Given the description of an element on the screen output the (x, y) to click on. 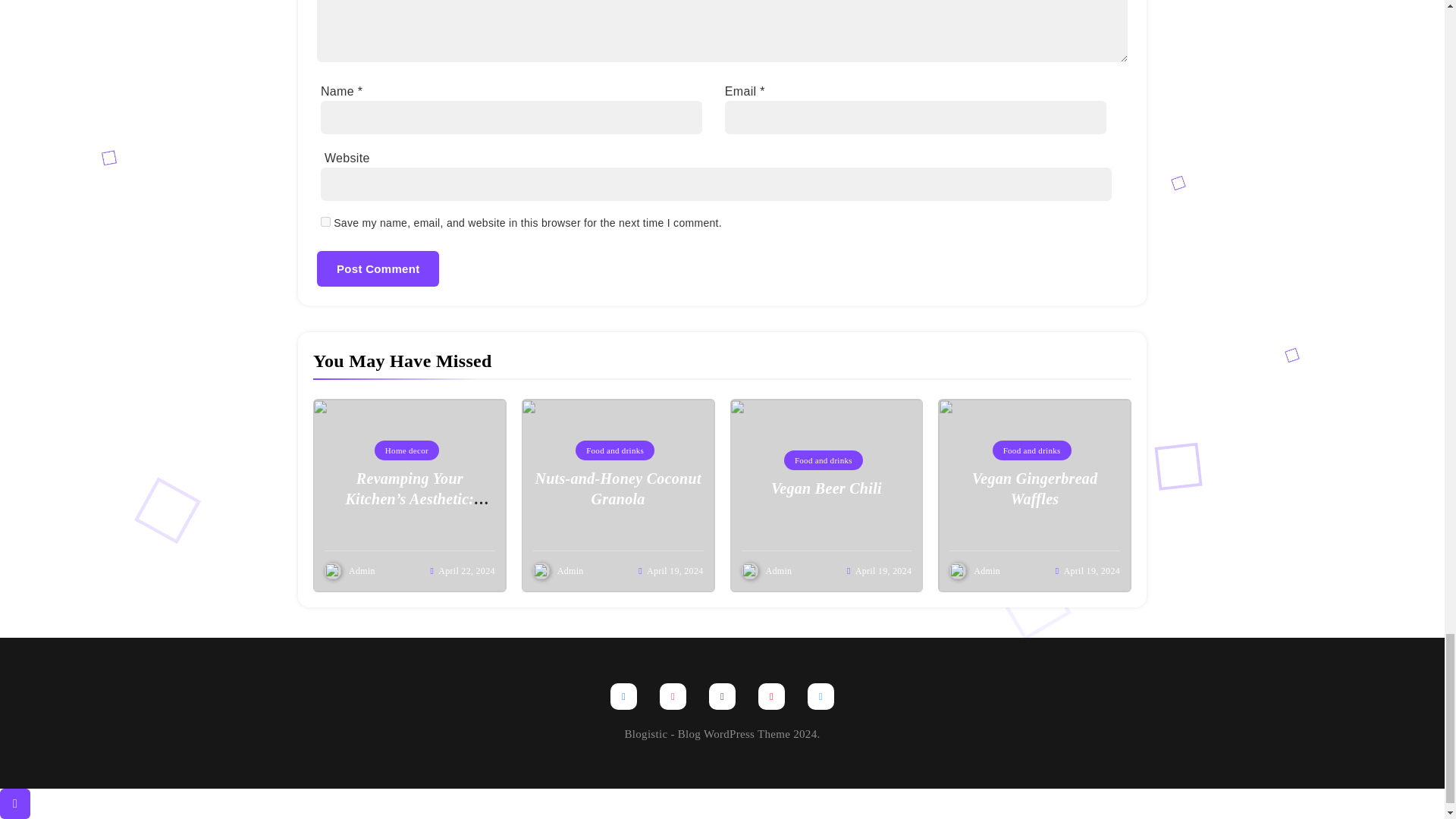
Admin (778, 570)
yes (325, 221)
April 19, 2024 (674, 570)
Nuts-and-Honey Coconut Granola (617, 489)
Admin (362, 570)
Post Comment (378, 268)
Home decor (406, 450)
Post Comment (378, 268)
Admin (570, 570)
Food and drinks (823, 460)
Vegan Beer Chili (826, 488)
April 22, 2024 (466, 570)
Food and drinks (614, 450)
